Given the description of an element on the screen output the (x, y) to click on. 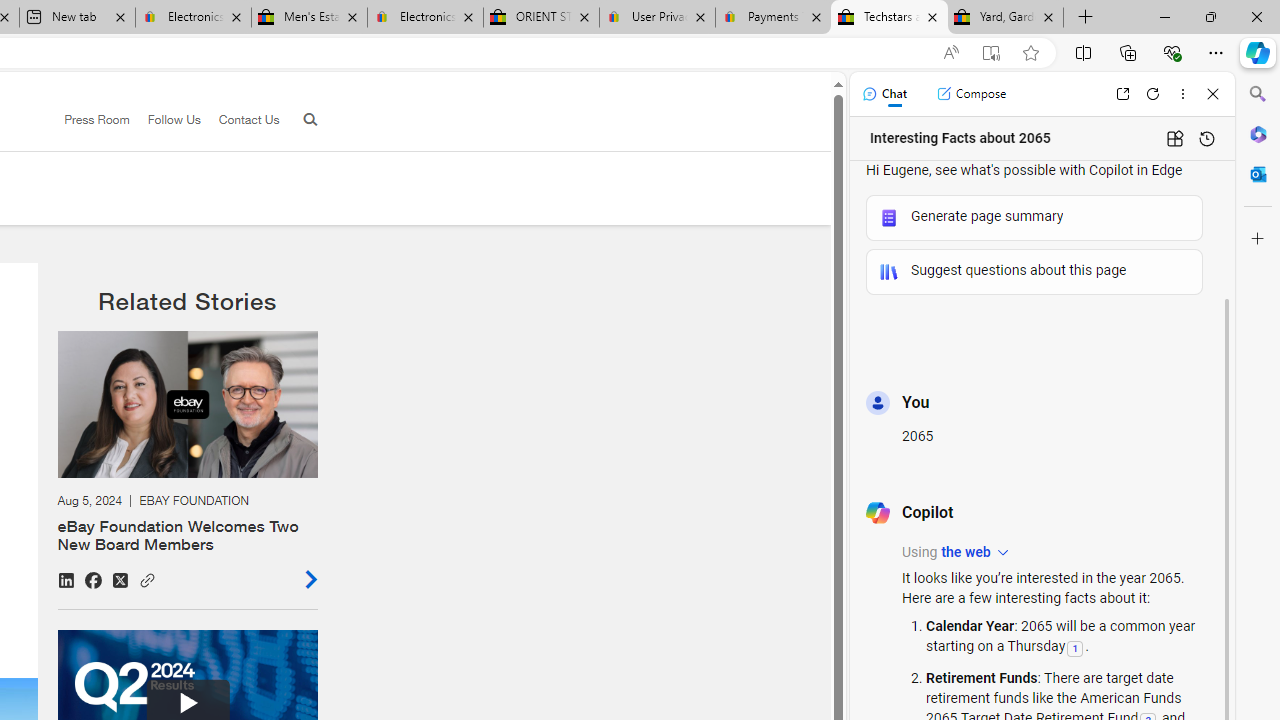
Press Room (97, 119)
Follow Us (164, 120)
Payments Terms of Use | eBay.com (772, 17)
Contact Us (239, 120)
Chat (884, 93)
Compose (971, 93)
User Privacy Notice | eBay (657, 17)
Share on Facebook (93, 580)
